Given the description of an element on the screen output the (x, y) to click on. 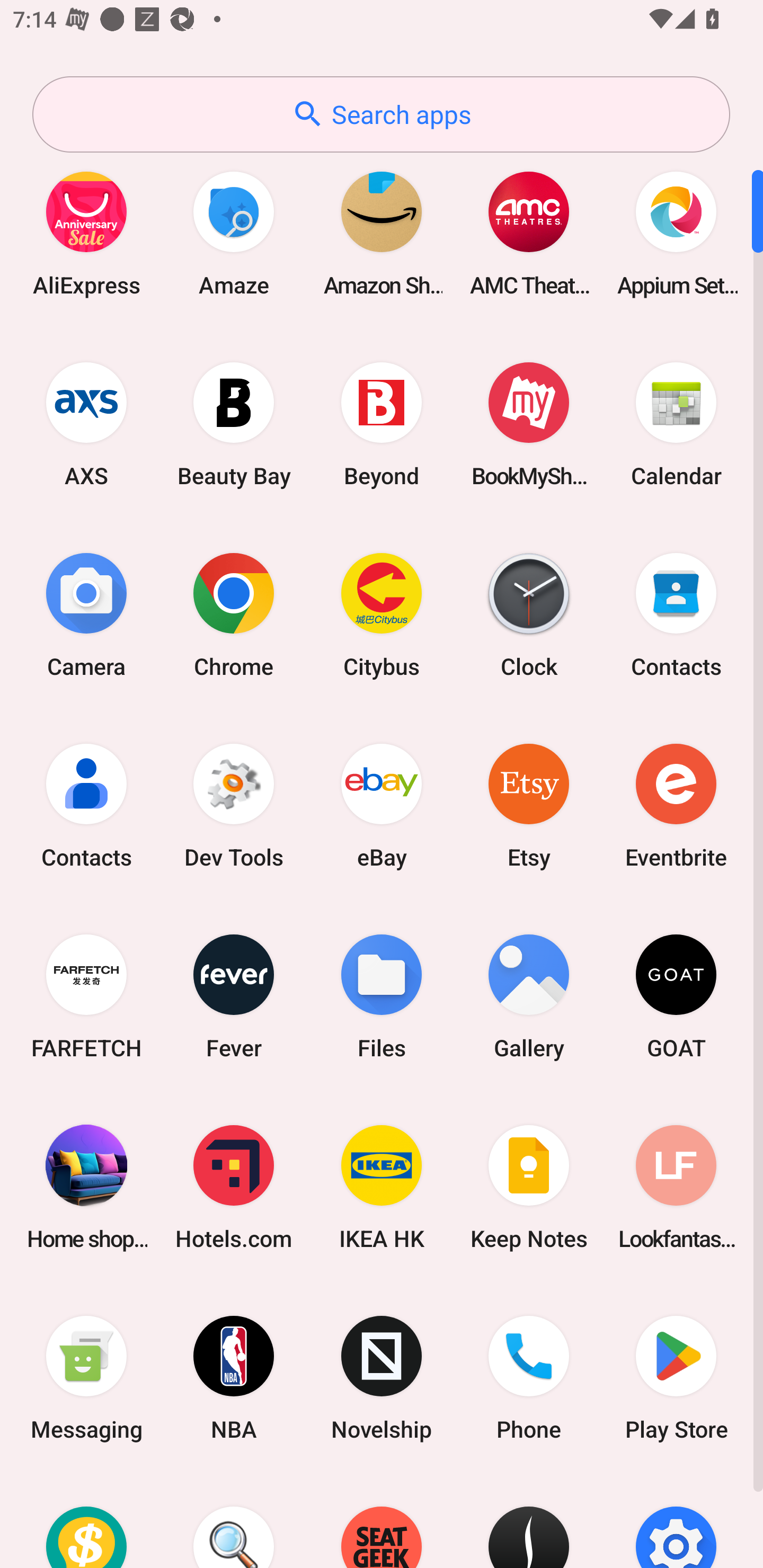
  Search apps (381, 114)
AliExpress (86, 233)
Amaze (233, 233)
Amazon Shopping (381, 233)
AMC Theatres (528, 233)
Appium Settings (676, 233)
AXS (86, 424)
Beauty Bay (233, 424)
Beyond (381, 424)
BookMyShow (528, 424)
Calendar (676, 424)
Camera (86, 614)
Chrome (233, 614)
Citybus (381, 614)
Clock (528, 614)
Contacts (676, 614)
Contacts (86, 805)
Dev Tools (233, 805)
eBay (381, 805)
Etsy (528, 805)
Eventbrite (676, 805)
FARFETCH (86, 996)
Fever (233, 996)
Files (381, 996)
Gallery (528, 996)
GOAT (676, 996)
Home shopping (86, 1186)
Hotels.com (233, 1186)
IKEA HK (381, 1186)
Keep Notes (528, 1186)
Lookfantastic (676, 1186)
Messaging (86, 1377)
NBA (233, 1377)
Novelship (381, 1377)
Phone (528, 1377)
Play Store (676, 1377)
